Given the description of an element on the screen output the (x, y) to click on. 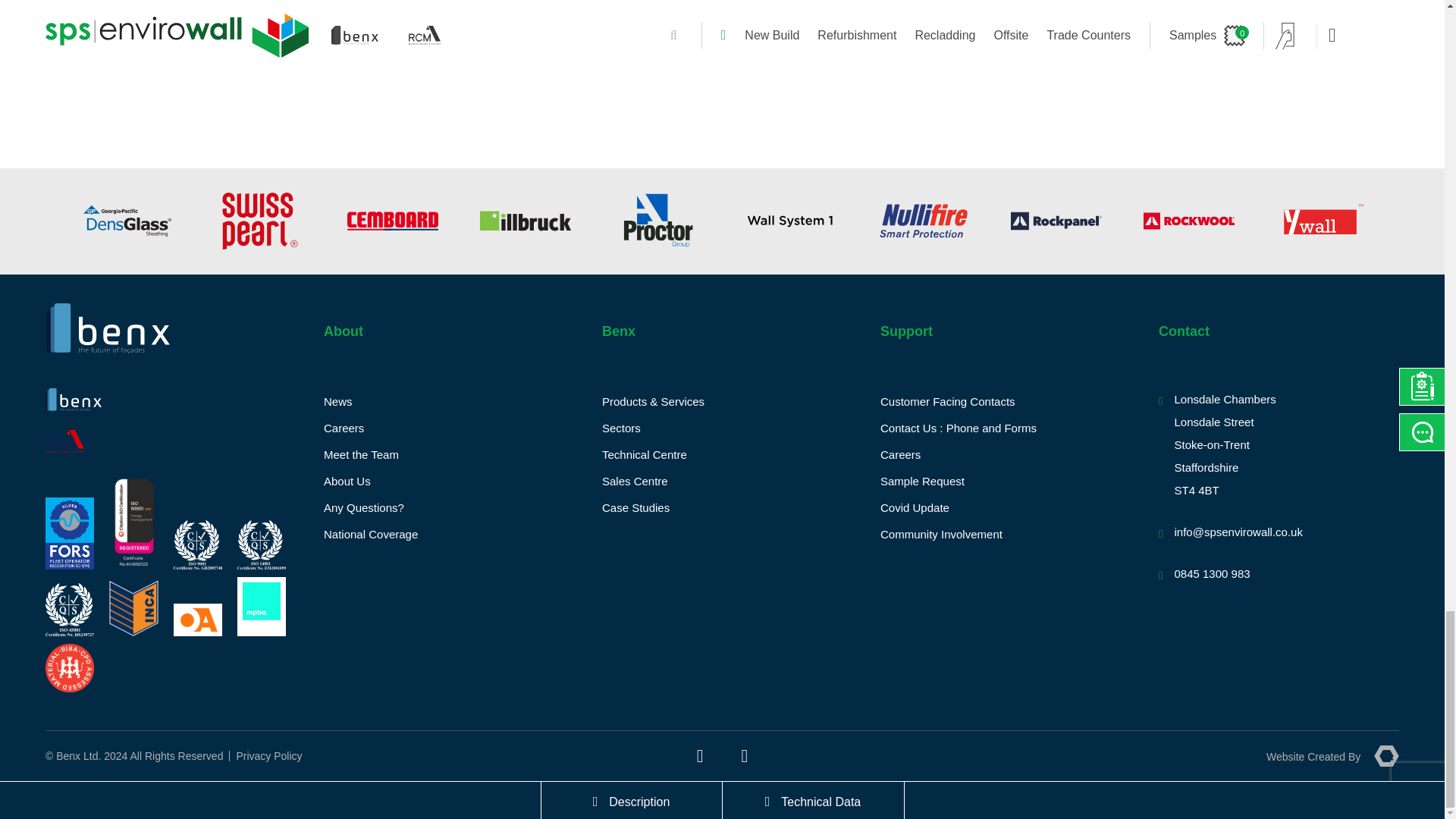
ISO 45001 (69, 609)
ISO 14001 (261, 544)
Website Created By SO Marketing (1332, 755)
offsite alliance (197, 619)
ISO 9001 (197, 544)
